Given the description of an element on the screen output the (x, y) to click on. 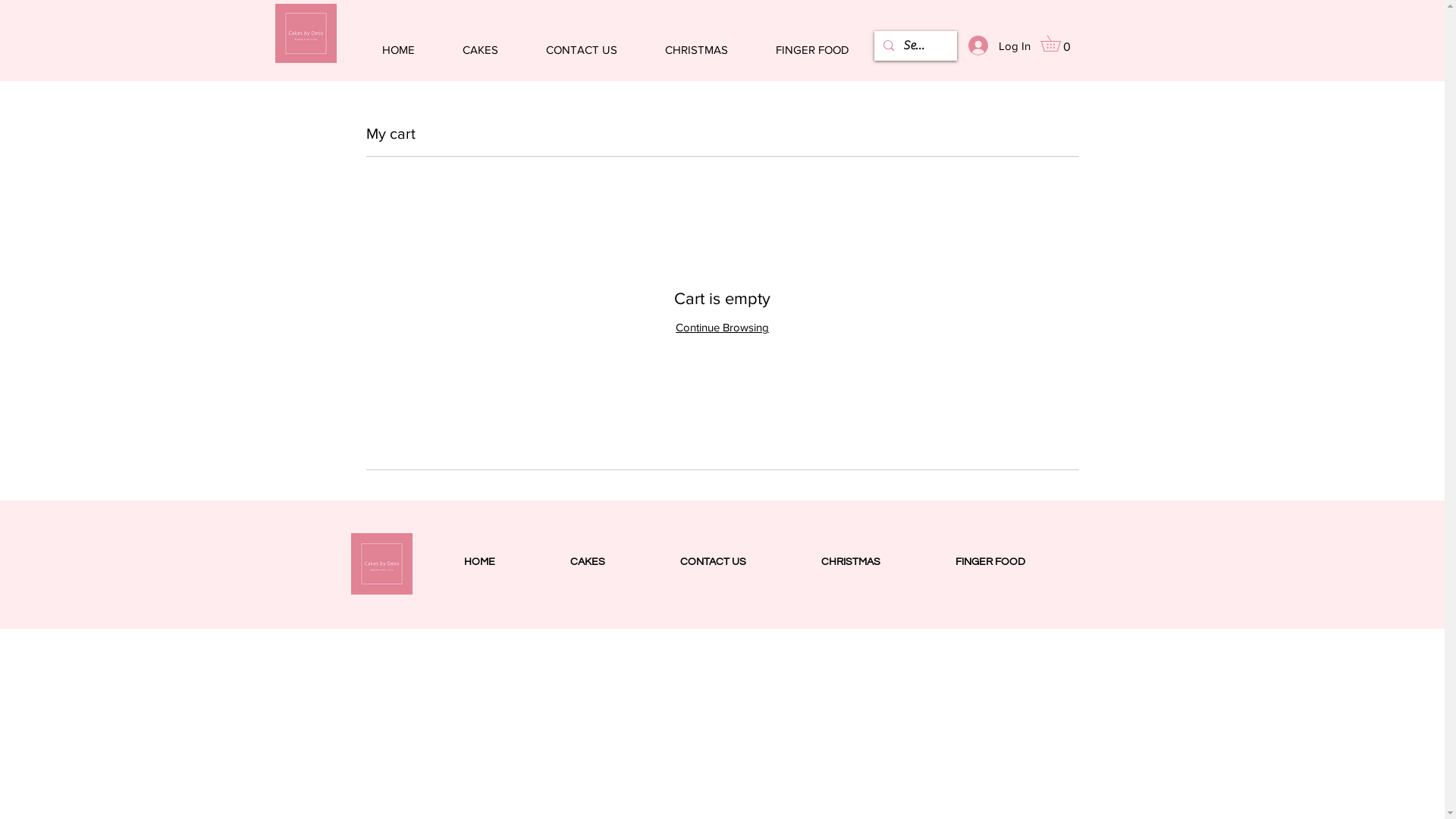
CHRISTMAS Element type: text (696, 43)
CONTACT US Element type: text (580, 43)
FINGER FOOD Element type: text (989, 561)
0 Element type: text (1058, 42)
Continue Browsing Element type: text (721, 326)
HOME Element type: text (397, 43)
CONTACT US Element type: text (713, 561)
FINGER FOOD Element type: text (812, 43)
CHRISTMAS Element type: text (851, 561)
Log In Element type: text (993, 45)
HOME Element type: text (479, 561)
